Given the description of an element on the screen output the (x, y) to click on. 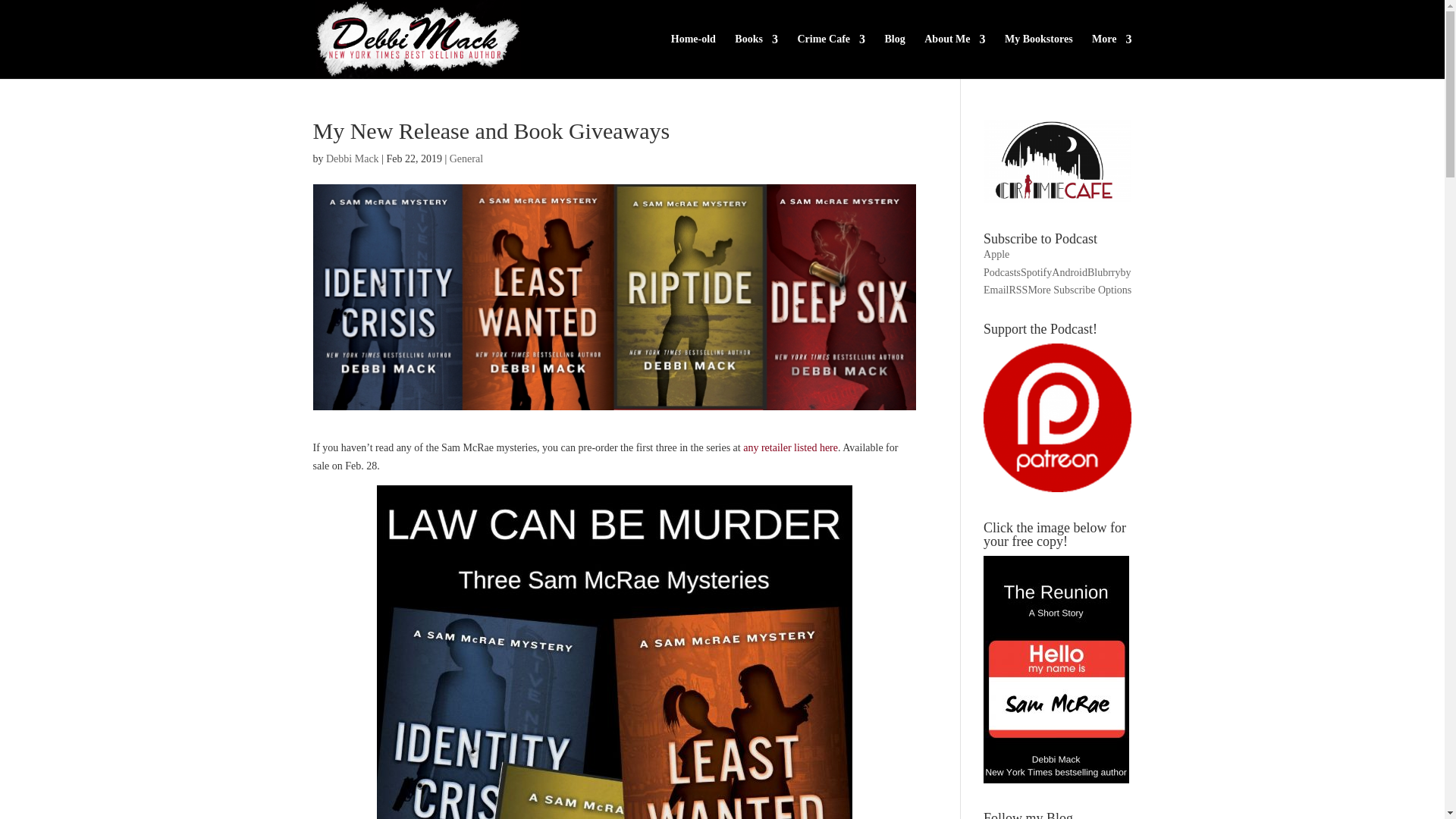
Subscribe on Apple Podcasts (1002, 263)
Subscribe by Email (1057, 281)
Crime Cafe (830, 56)
Subscribe via RSS (1018, 289)
Subscribe on Android (1069, 272)
More Subscribe Options (1079, 289)
Books (756, 56)
Subscribe on Blubrry (1104, 272)
Home-old (693, 56)
Posts by Debbi Mack (352, 158)
